Given the description of an element on the screen output the (x, y) to click on. 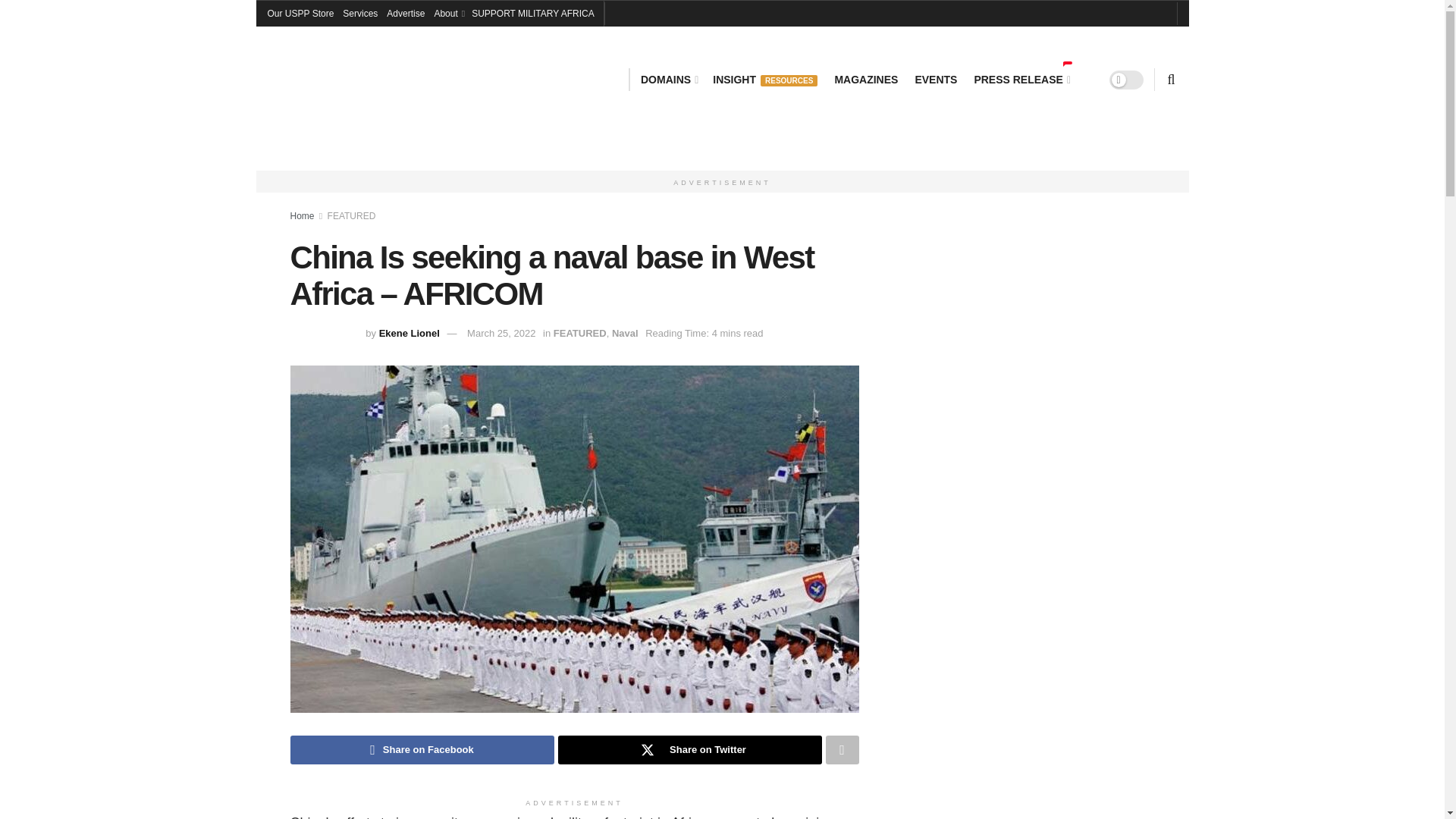
Advertise (406, 13)
DMCA.com Protection Status (968, 501)
DOMAINS (667, 79)
About (448, 13)
MAGAZINES (866, 79)
SUPPORT MILITARY AFRICA (532, 13)
Services (359, 13)
EVENTS (935, 79)
Our USPP Store (299, 13)
INSIGHTRESOURCES (764, 79)
